Given the description of an element on the screen output the (x, y) to click on. 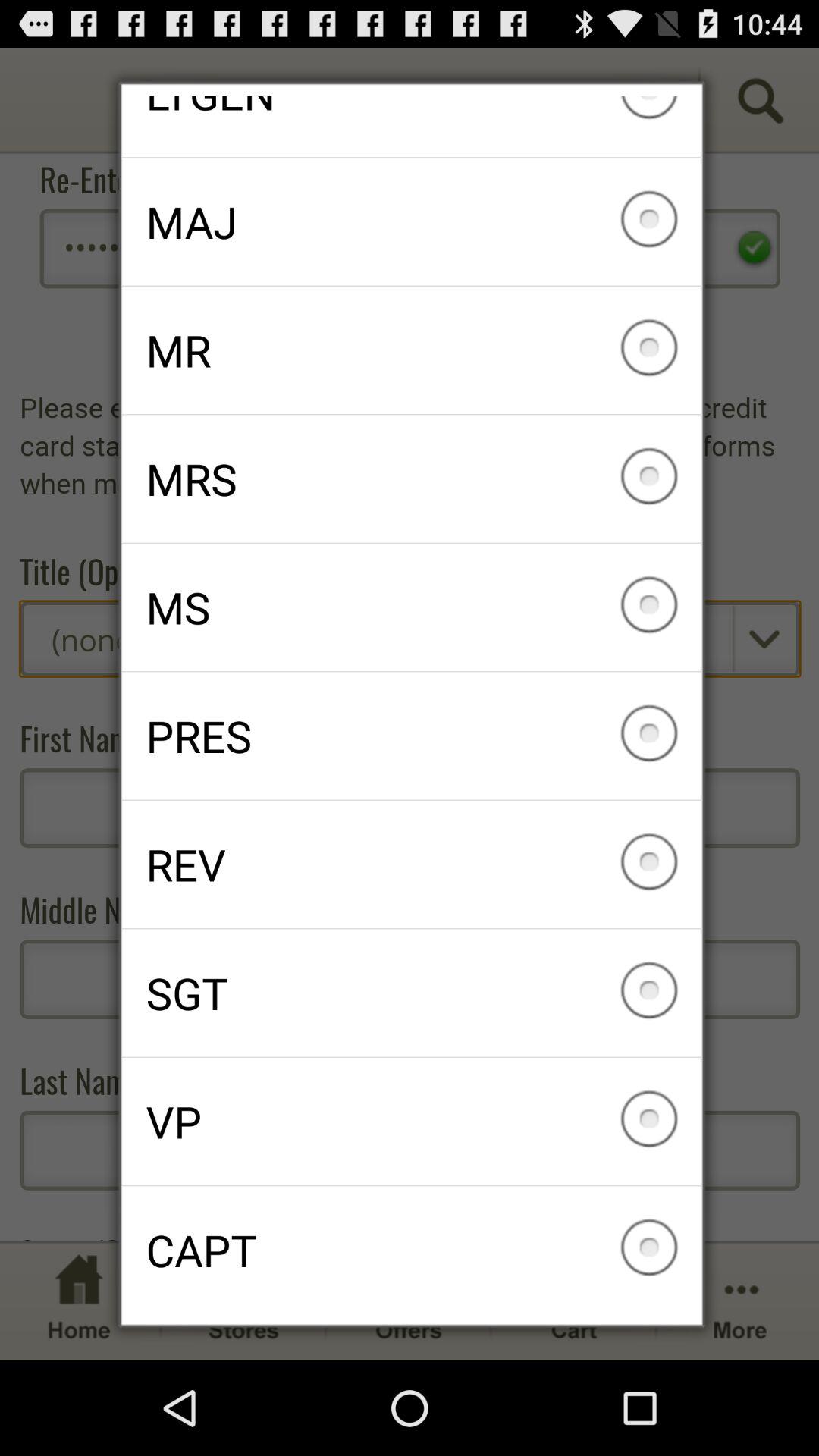
launch the item below the rev checkbox (411, 992)
